Given the description of an element on the screen output the (x, y) to click on. 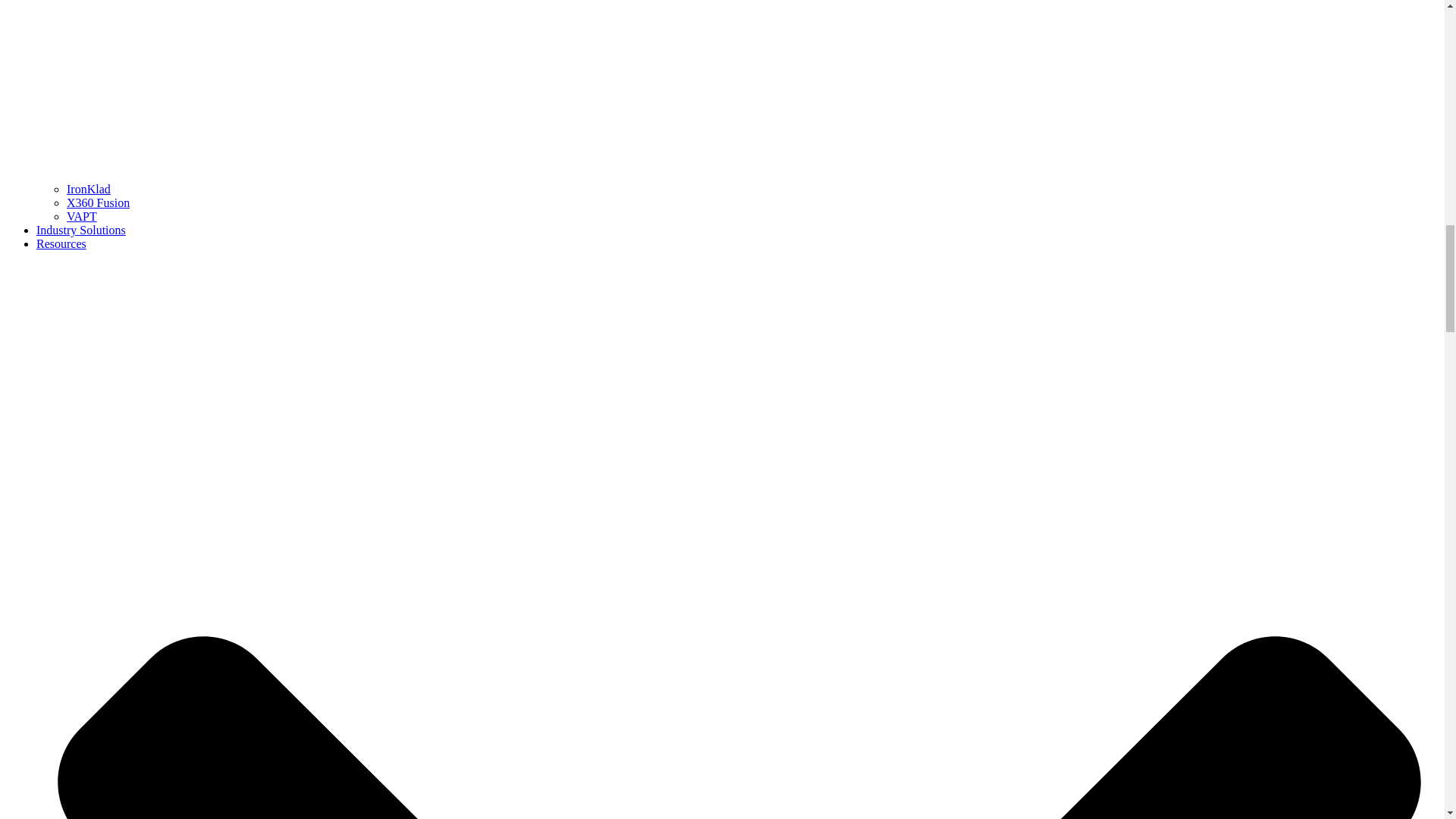
VAPT (81, 215)
Industry Solutions (80, 229)
X360 Fusion (97, 202)
Resources (60, 243)
IronKlad (88, 188)
